Given the description of an element on the screen output the (x, y) to click on. 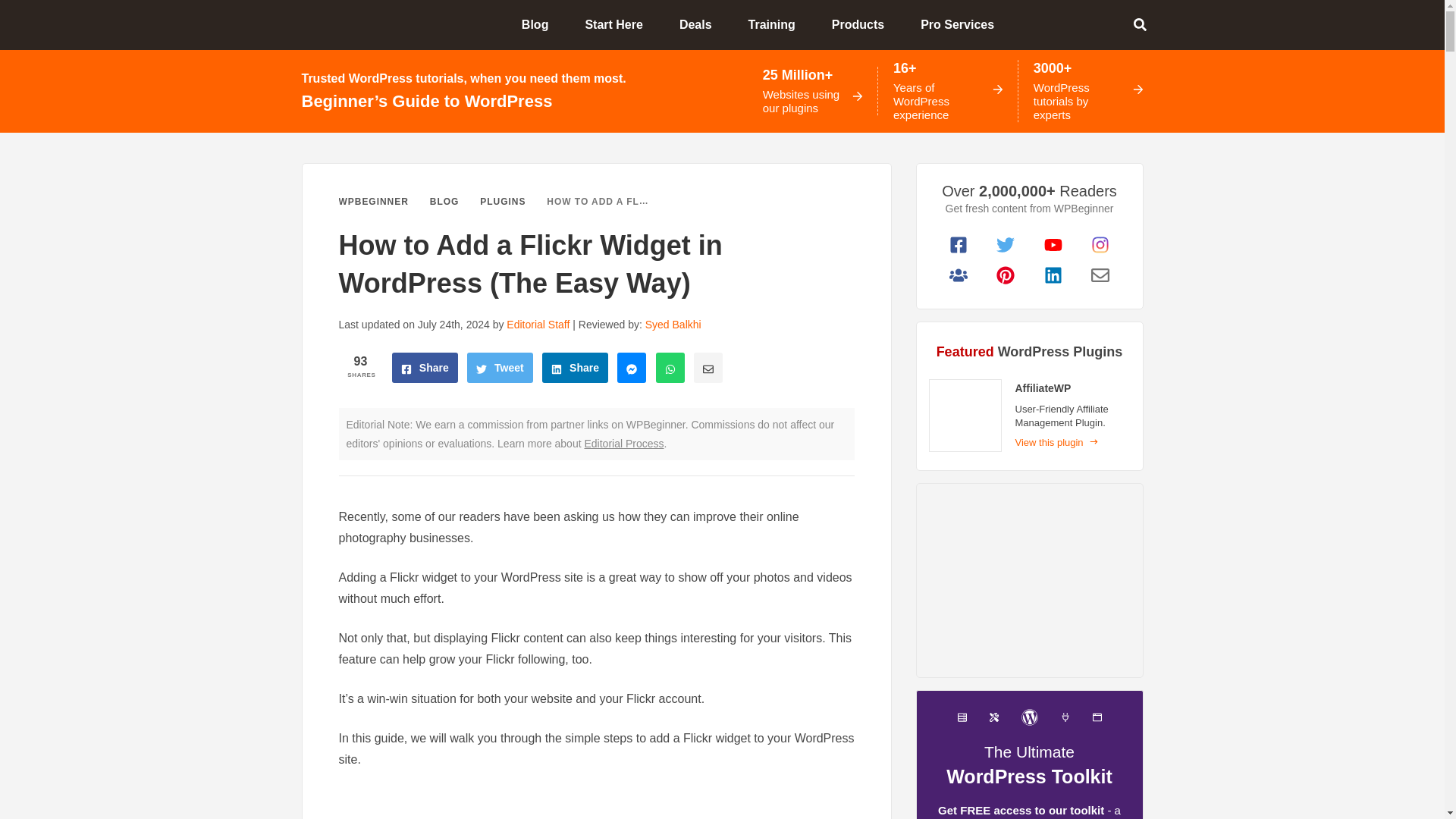
WPBeginner - Beginners Guide for WordPress (353, 24)
Blog (541, 24)
Start Here (619, 24)
Go to Blog. (444, 201)
WPBeginner - WordPress Tutorials for Beginners (353, 24)
Deals (701, 24)
Go to WPBeginner. (372, 201)
